Given the description of an element on the screen output the (x, y) to click on. 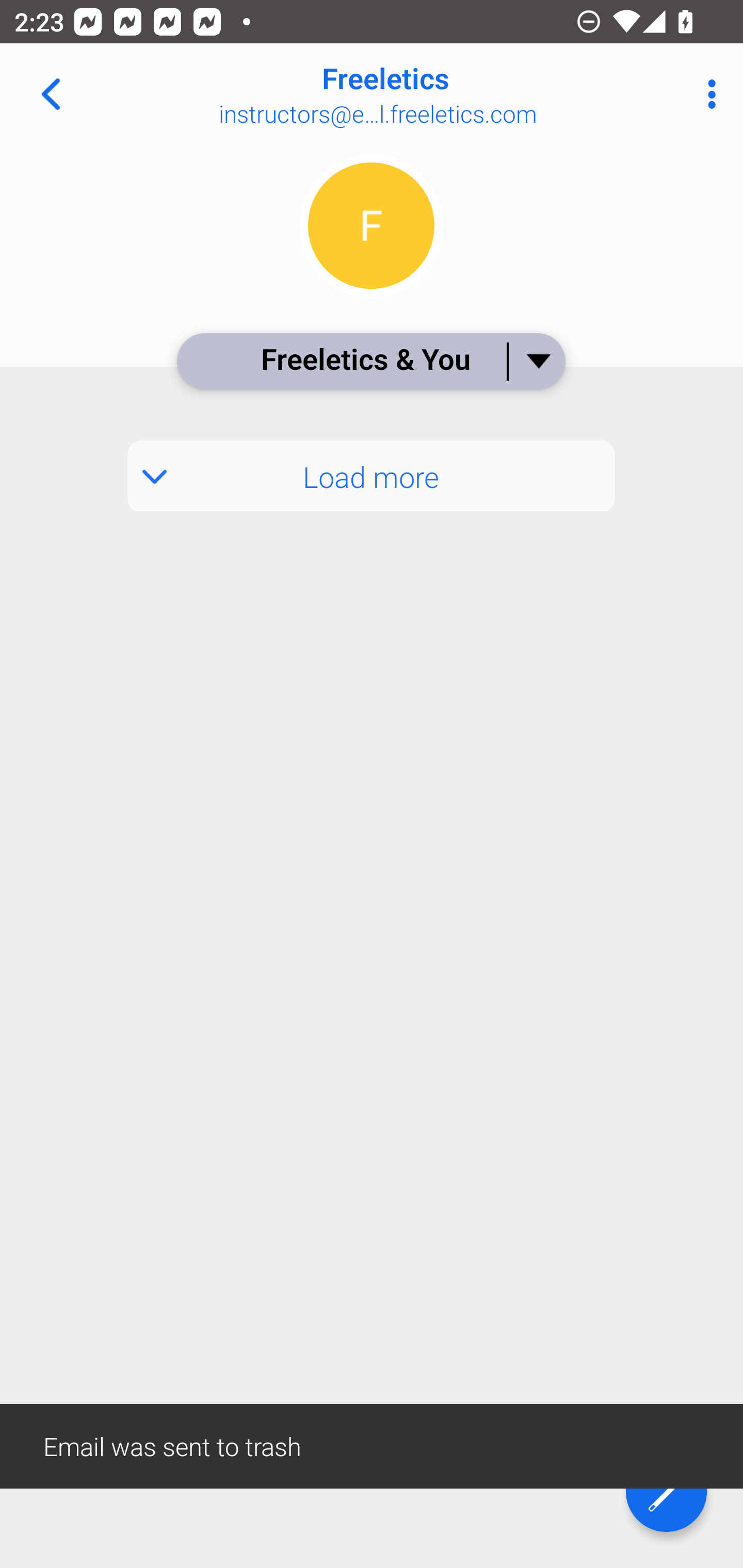
Navigate up (50, 93)
Freeletics instructors@email.freeletics.com (436, 93)
More Options (706, 93)
Freeletics & You (370, 361)
Load more (371, 475)
Email was sent to trash (371, 1445)
